Given the description of an element on the screen output the (x, y) to click on. 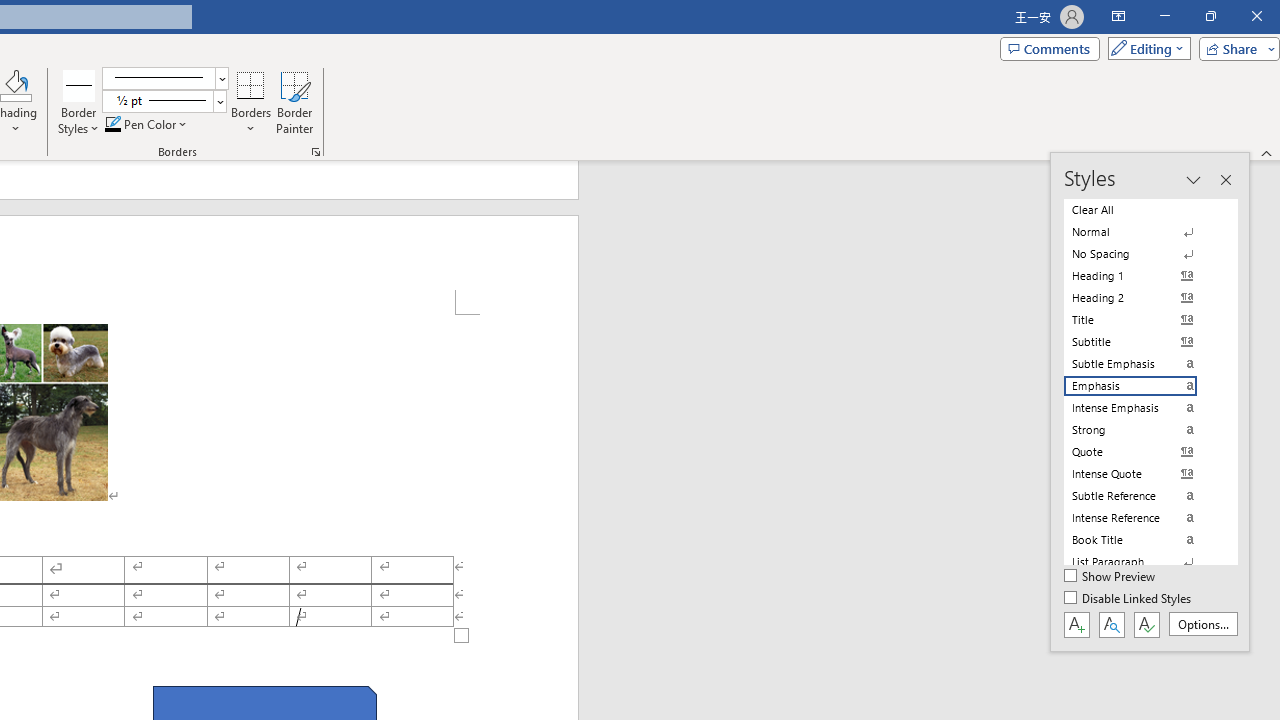
Borders and Shading... (315, 151)
Border Styles (79, 102)
Options... (1202, 623)
Intense Reference (1142, 517)
Show Preview (1110, 577)
Class: NetUIButton (1146, 624)
Heading 2 (1142, 297)
